Given the description of an element on the screen output the (x, y) to click on. 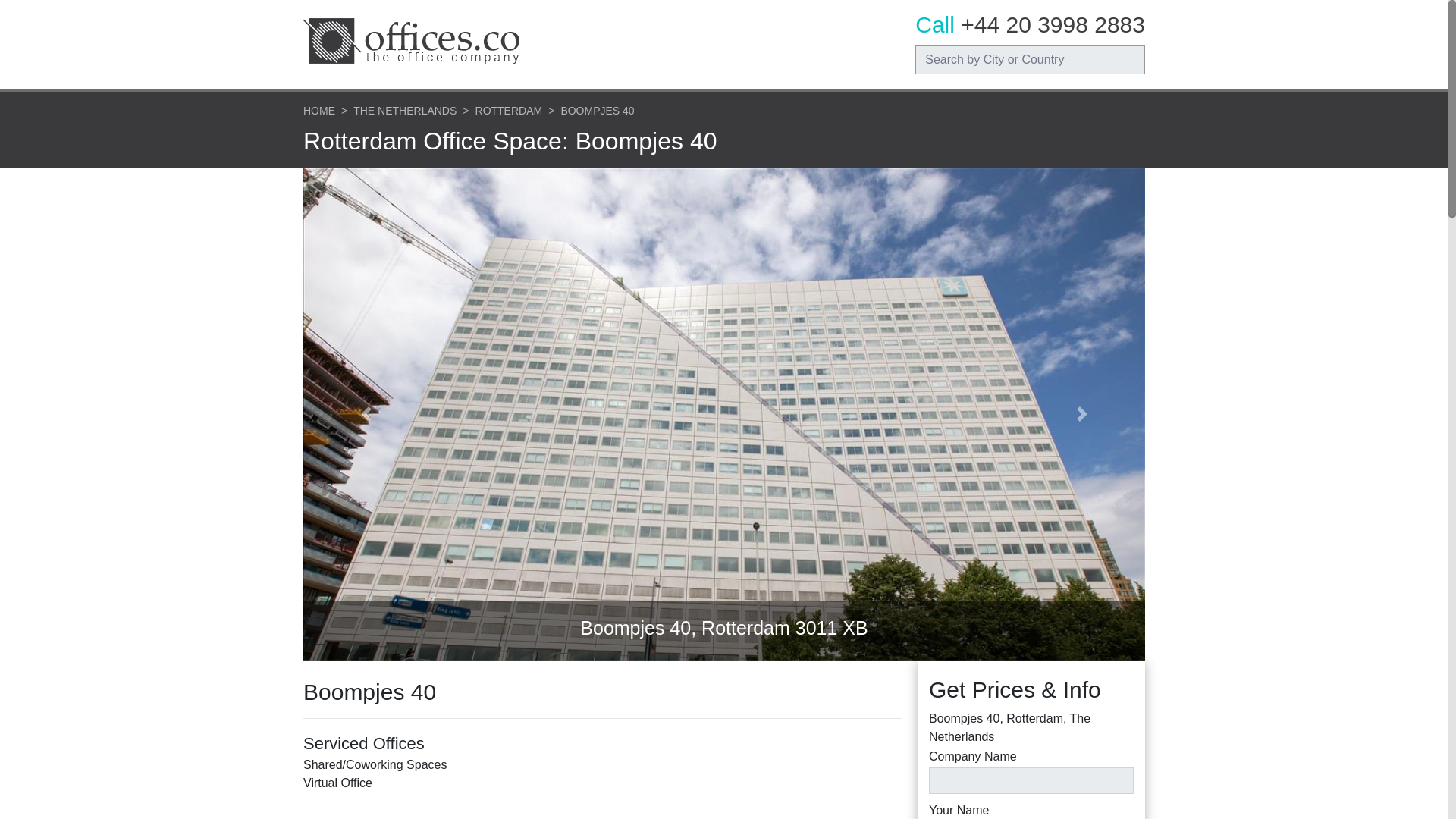
HOME (318, 110)
ROTTERDAM (509, 110)
THE NETHERLANDS (405, 110)
